Given the description of an element on the screen output the (x, y) to click on. 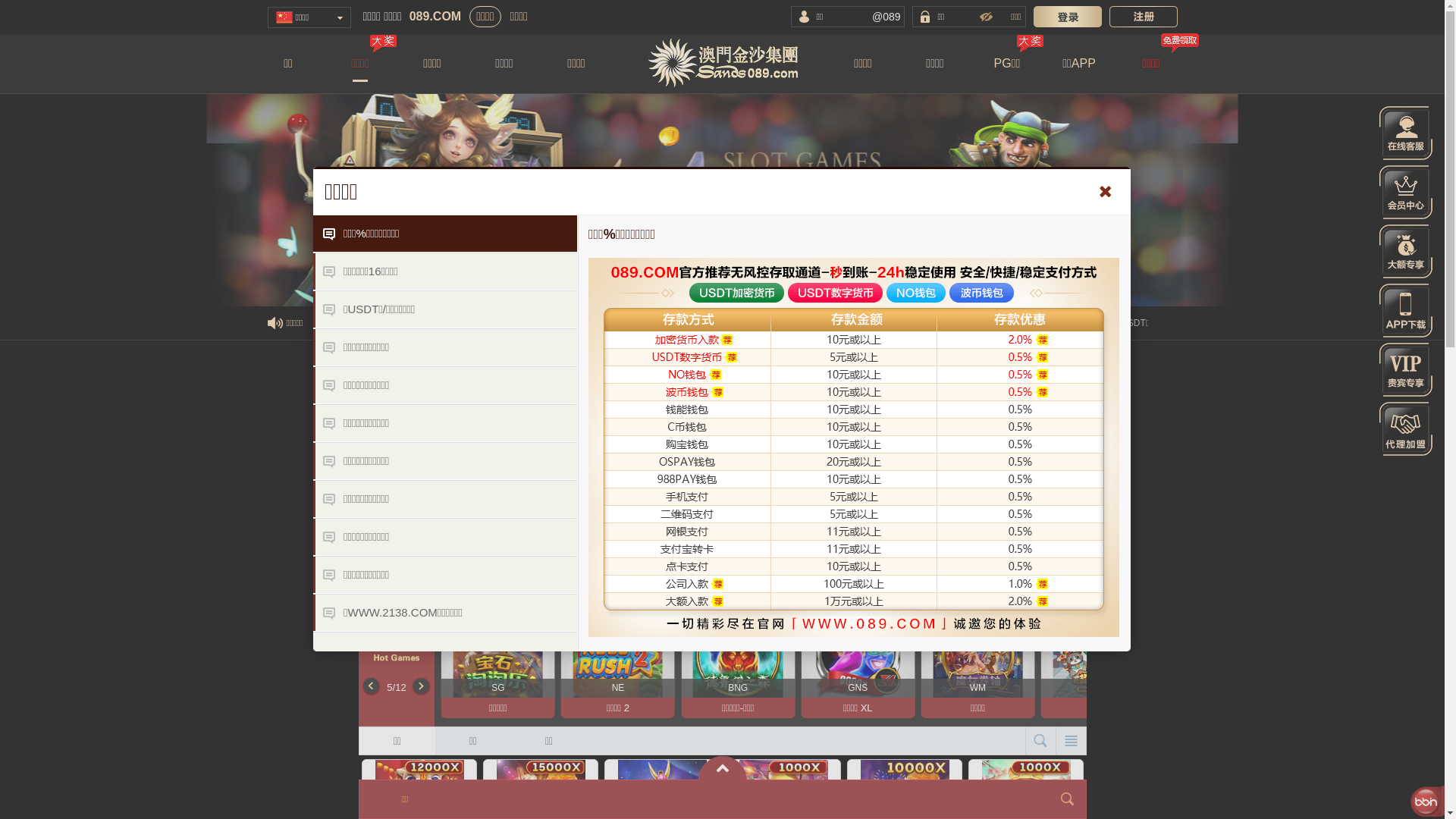
089.COM Element type: text (435, 16)
